Given the description of an element on the screen output the (x, y) to click on. 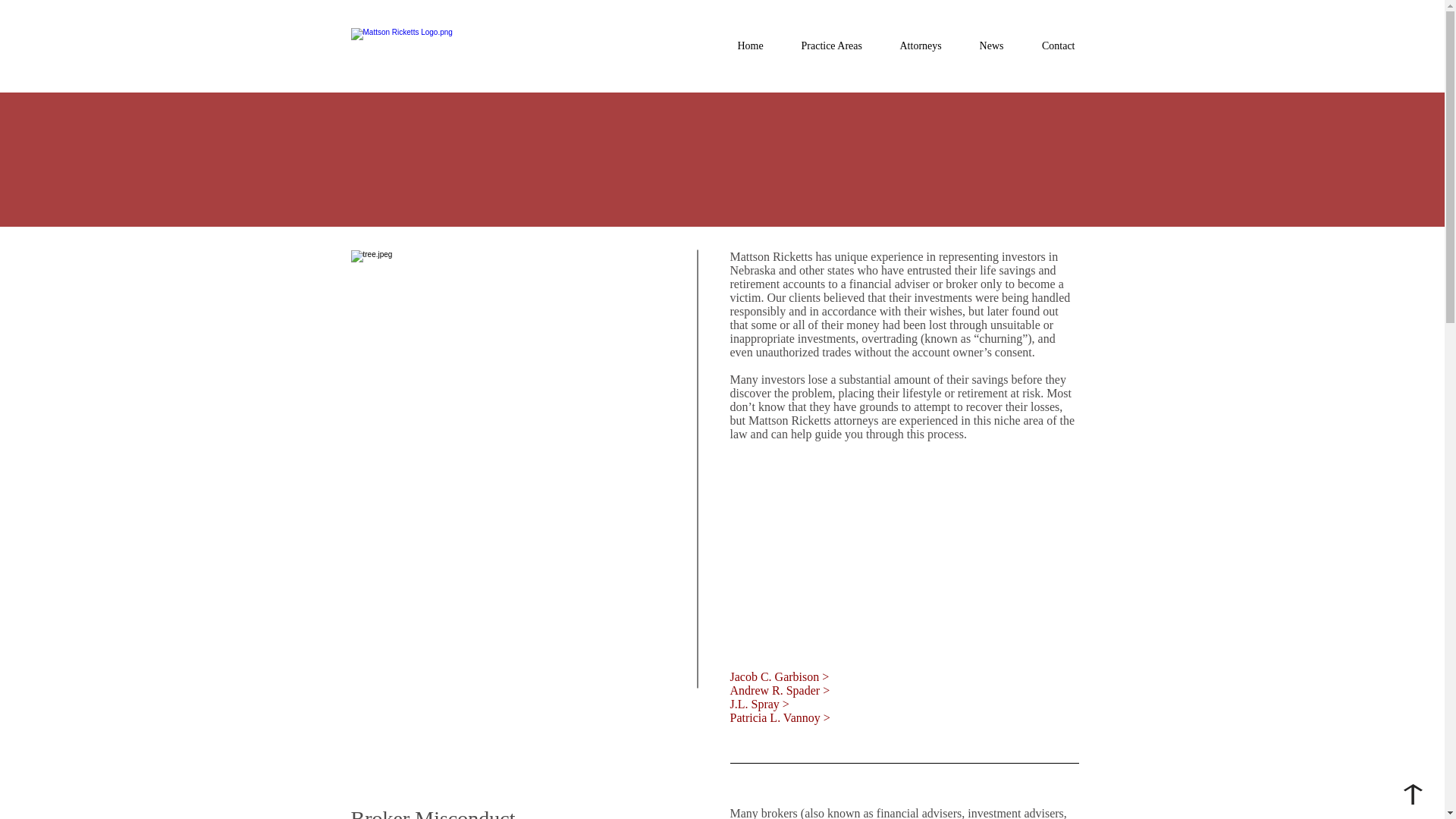
Home (751, 45)
Practice Areas (831, 45)
News (990, 45)
Attorneys (920, 45)
Contact (1057, 45)
